Given the description of an element on the screen output the (x, y) to click on. 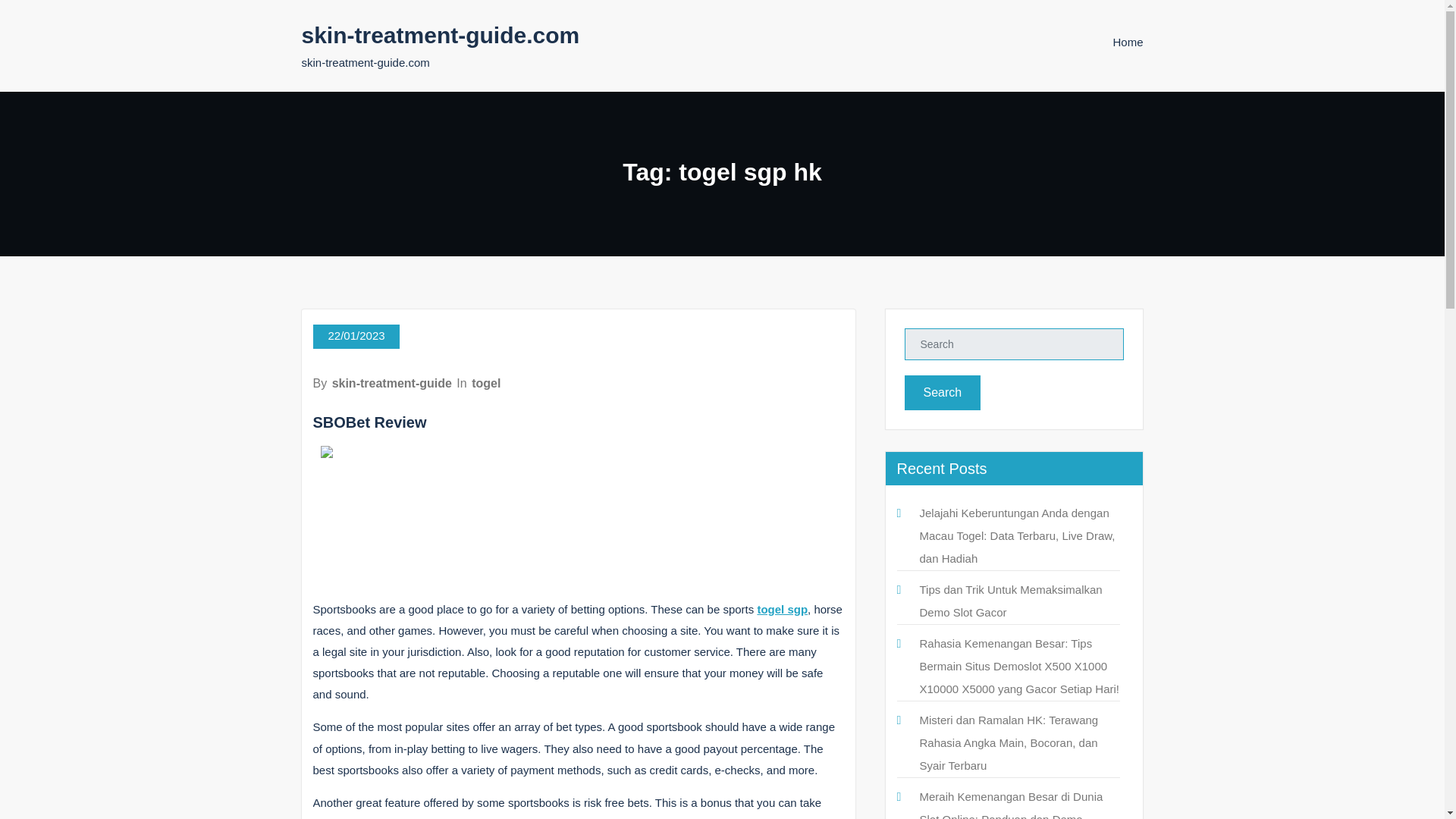
skin-treatment-guide.com (440, 34)
Search (941, 392)
skin-treatment-guide (391, 382)
Home (1127, 41)
Tips dan Trik Untuk Memaksimalkan Demo Slot Gacor (1010, 601)
togel (486, 382)
Home (1127, 41)
togel sgp (782, 608)
SBOBet Review (369, 422)
